Given the description of an element on the screen output the (x, y) to click on. 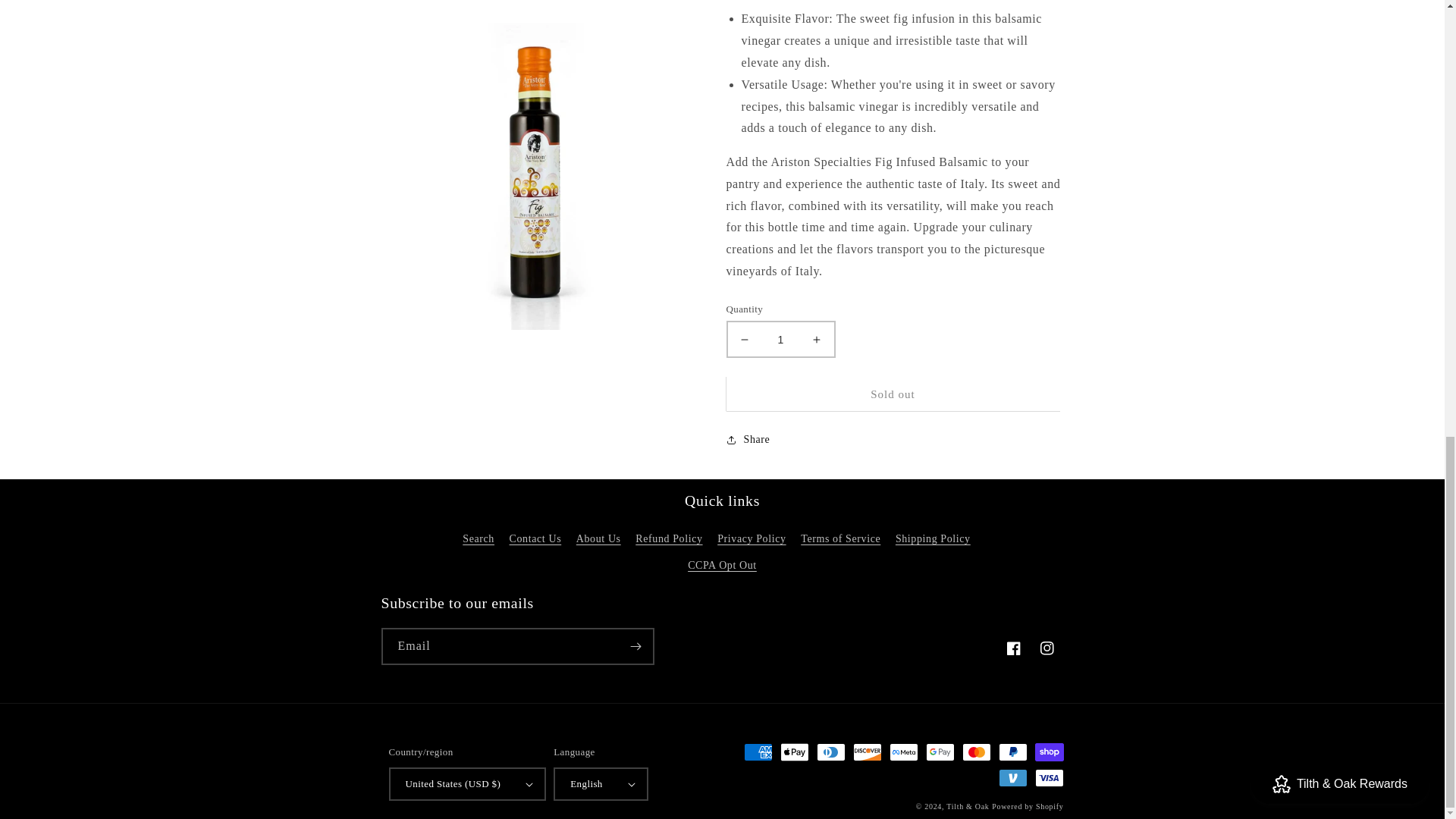
1 (780, 339)
